Given the description of an element on the screen output the (x, y) to click on. 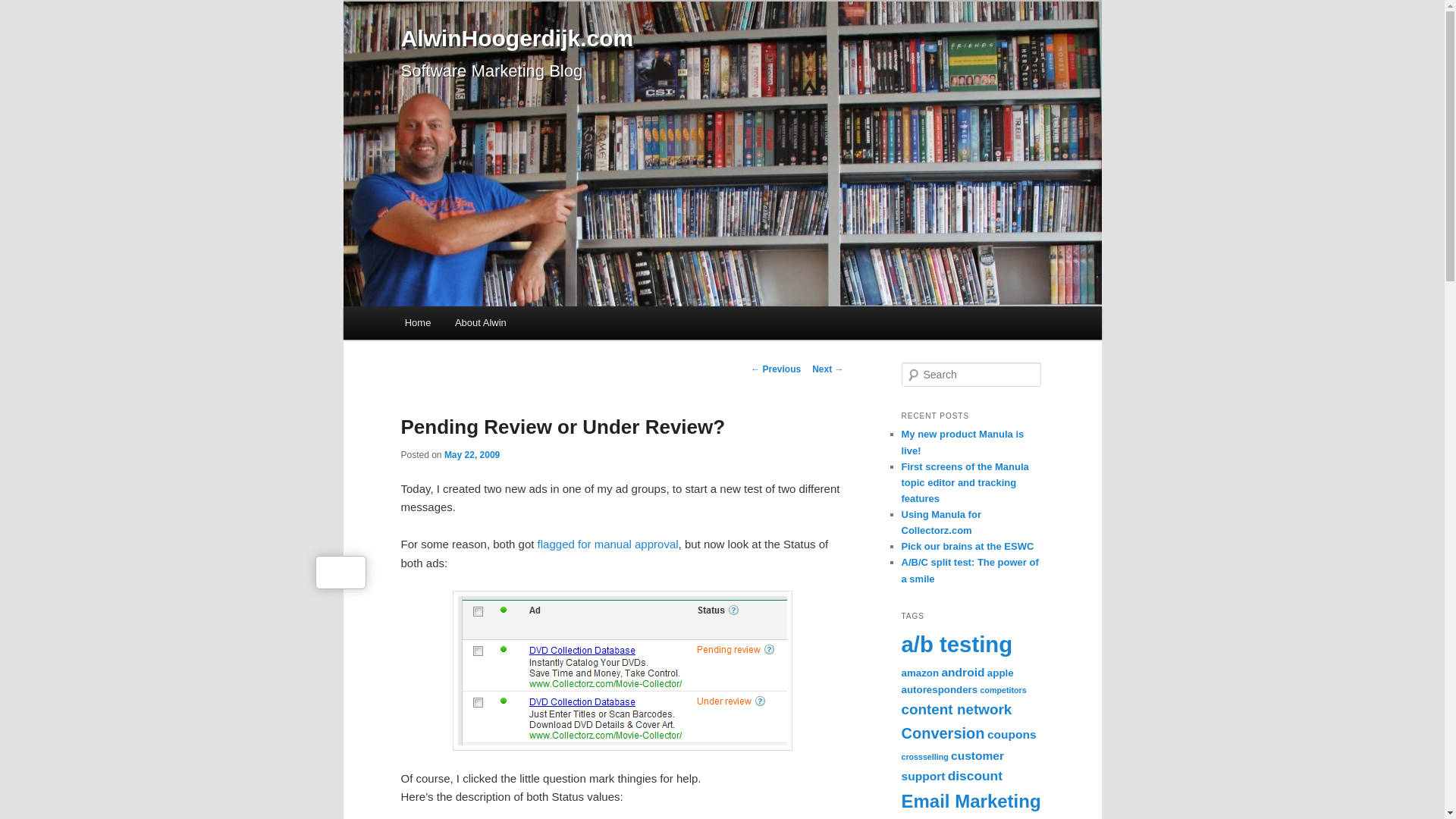
AlwinHoogerdijk.com (516, 37)
autoresponders (938, 689)
apple (1000, 672)
android (962, 671)
flagged for manual approval (607, 543)
About Alwin (480, 322)
AlwinHoogerdijk.com (516, 37)
Pick our brains at the ESWC (967, 546)
competitors (1002, 689)
Skip to secondary content (479, 324)
Skip to secondary content (479, 324)
3:24 am (471, 454)
My new product Manula is live! (962, 441)
amazon (920, 672)
May 22, 2009 (471, 454)
